Given the description of an element on the screen output the (x, y) to click on. 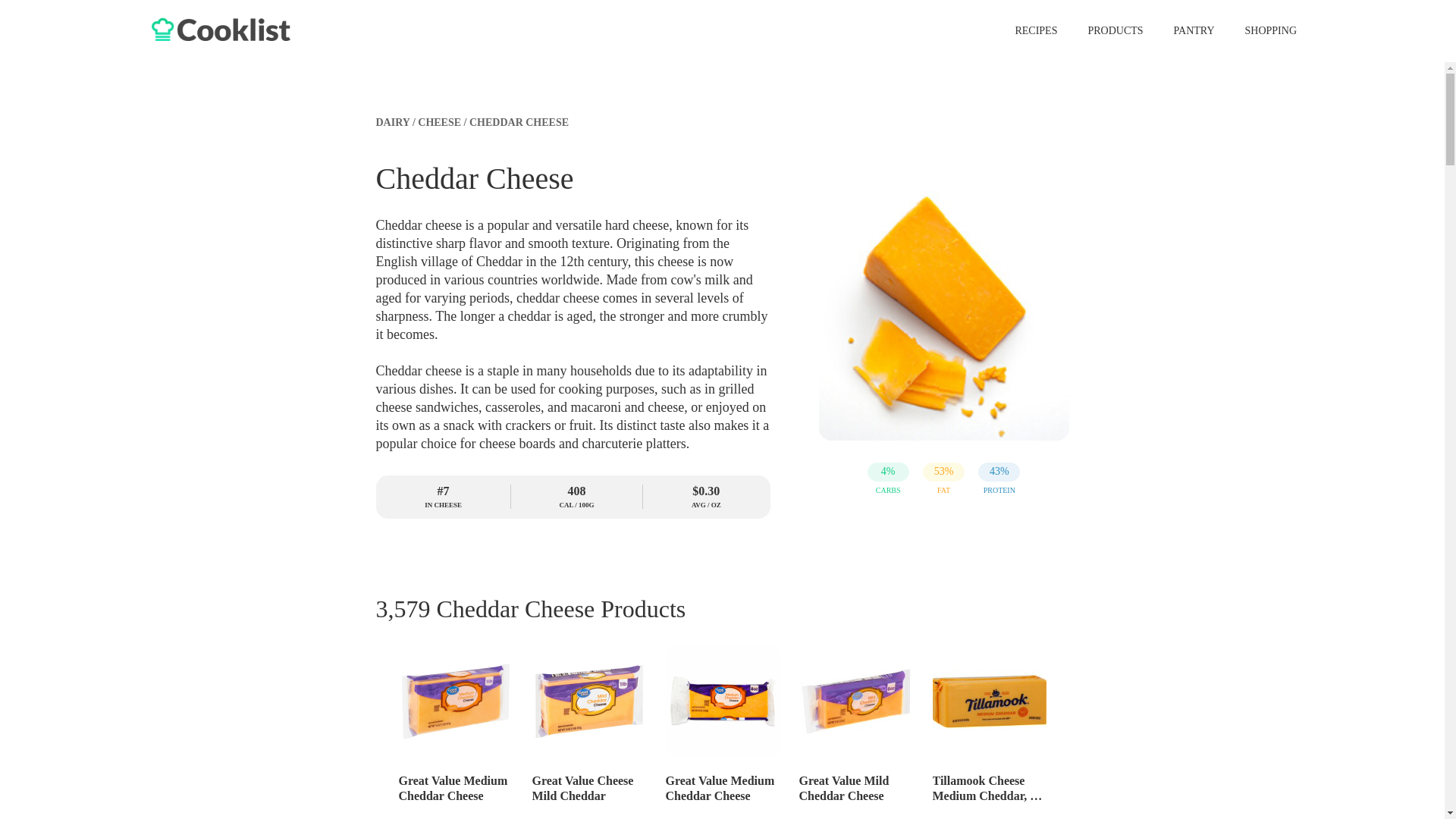
PRODUCTS (1107, 31)
PANTRY (1187, 31)
RECIPES (1027, 31)
SHOPPING (1263, 31)
